Given the description of an element on the screen output the (x, y) to click on. 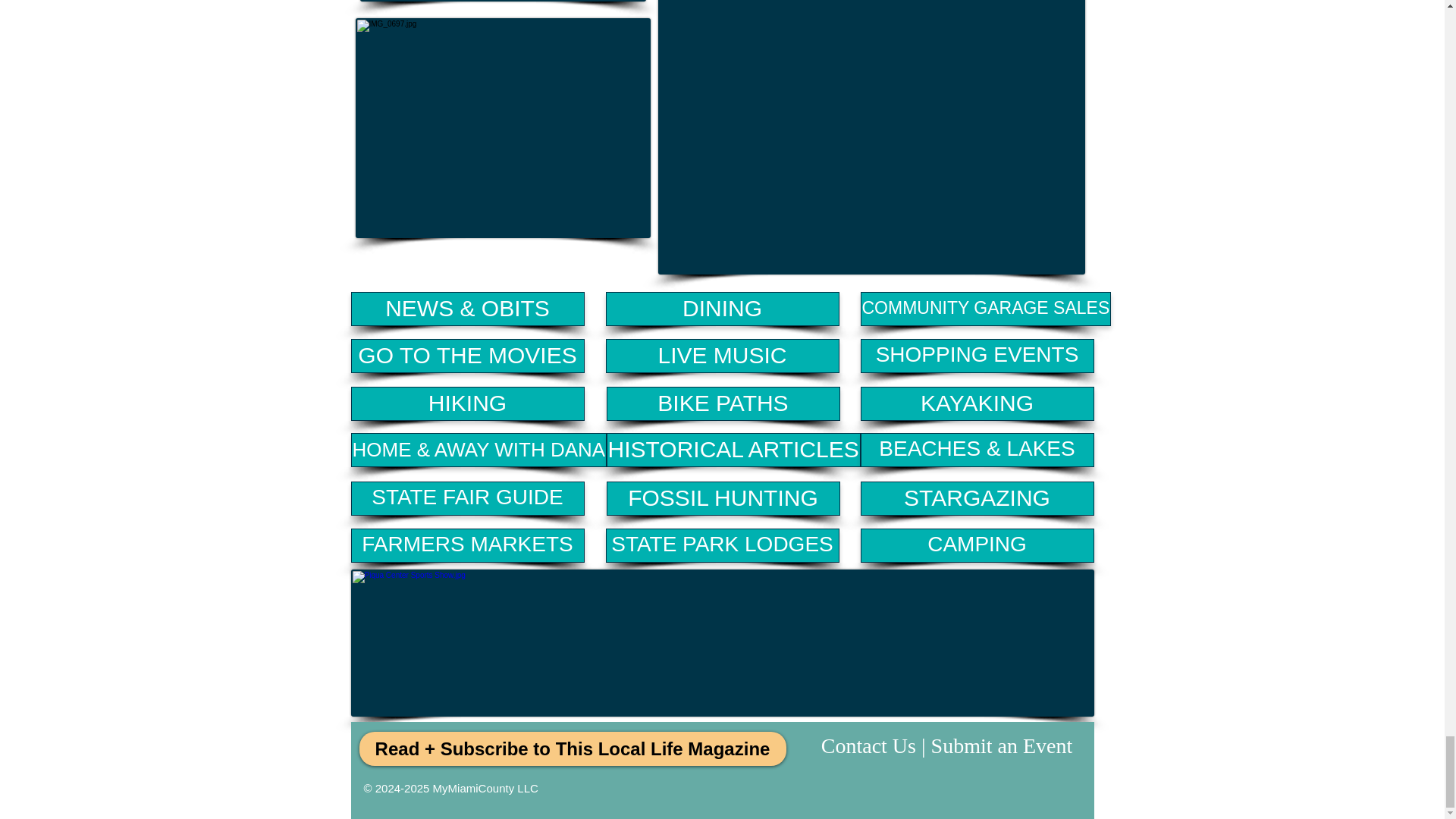
SHOPPING EVENTS (976, 356)
GO TO THE MOVIES (466, 356)
BIKE PATHS (723, 403)
KAYAKING (976, 403)
LIVE MUSIC (721, 356)
COMMUNITY GARAGE SALES (985, 308)
STARGAZING (976, 498)
HISTORICAL ARTICLES (733, 449)
FOSSIL HUNTING (723, 498)
FARMERS MARKETS (466, 545)
STATE FAIR GUIDE (466, 498)
HIKING (466, 403)
CAMPING (976, 545)
DINING (721, 308)
STATE PARK LODGES (721, 545)
